Given the description of an element on the screen output the (x, y) to click on. 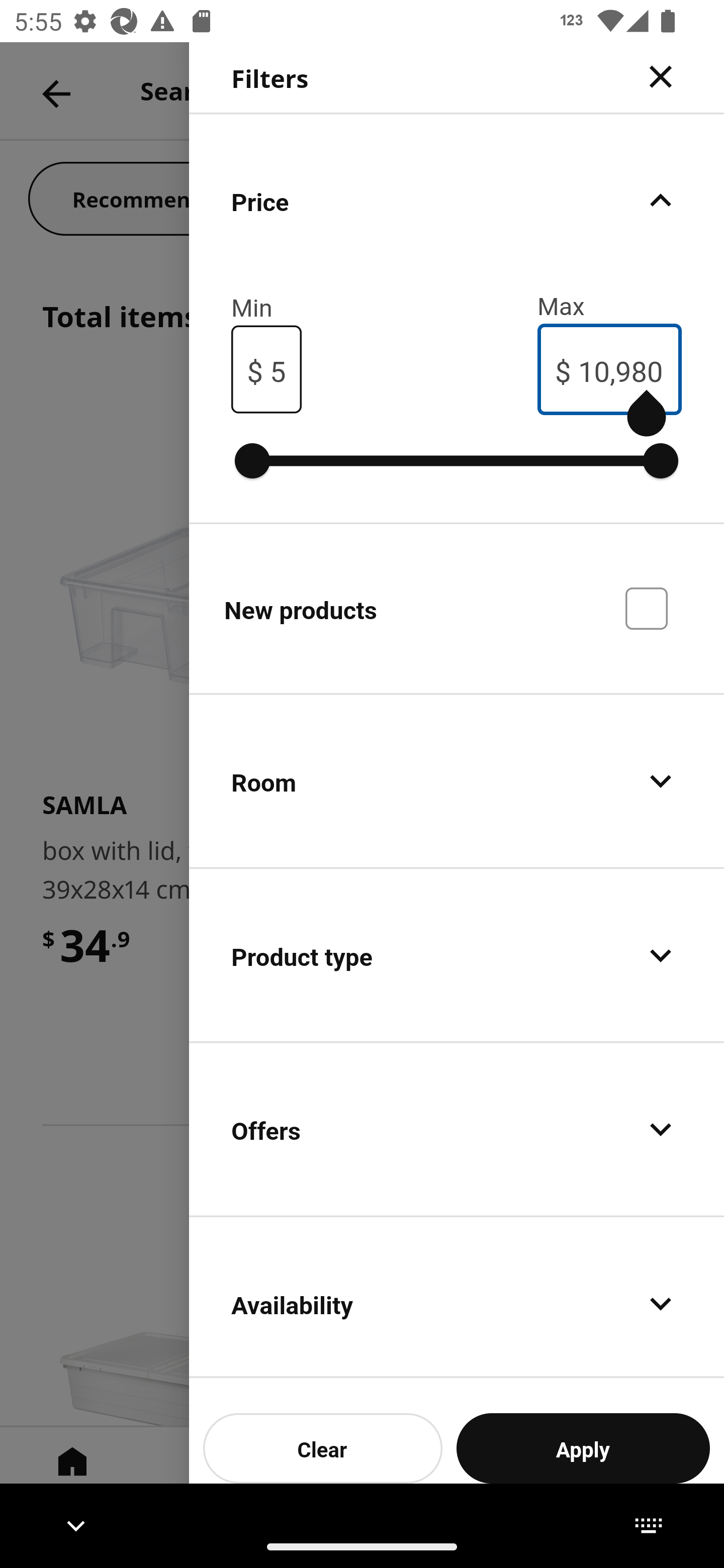
Price (456, 200)
$  10,980 (609, 369)
$  5 (265, 369)
5 (277, 369)
10,980 (620, 369)
0% 100% (456, 460)
New products (456, 607)
Room (456, 780)
Product type (456, 954)
Offers (456, 1128)
Availability (456, 1297)
Clear (322, 1447)
Apply (583, 1447)
